Given the description of an element on the screen output the (x, y) to click on. 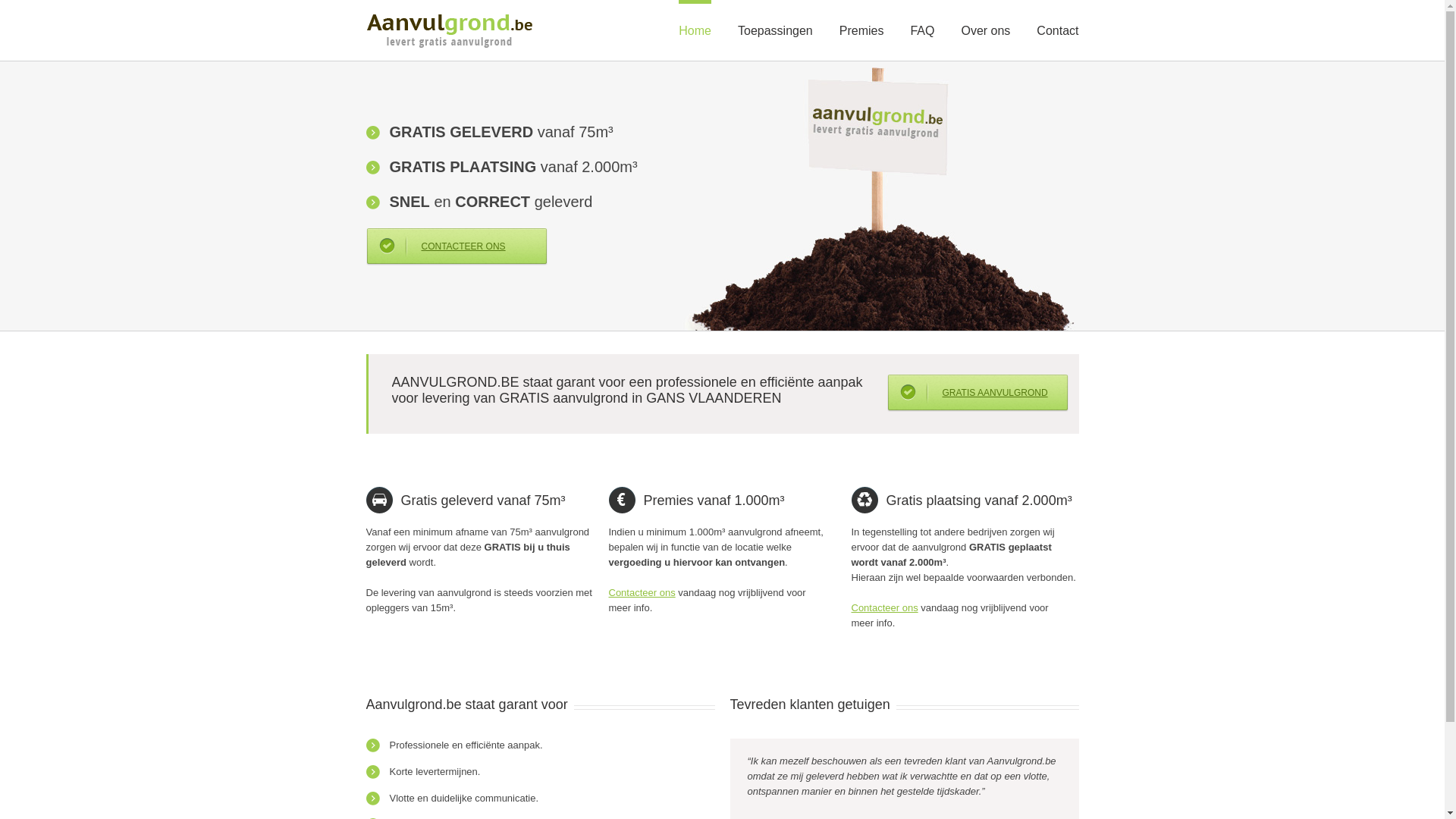
Over ons Element type: text (985, 18)
CONTACTEER ONS Element type: text (455, 246)
Contacteer ons Element type: text (641, 592)
Aanvulgrond Element type: text (448, 30)
GRATIS AANVULGROND Element type: text (977, 392)
FAQ Element type: text (922, 18)
Premies Element type: text (861, 18)
Contacteer ons Element type: text (883, 607)
Contact Element type: text (1057, 18)
Home Element type: text (694, 18)
Toepassingen Element type: text (774, 18)
